Given the description of an element on the screen output the (x, y) to click on. 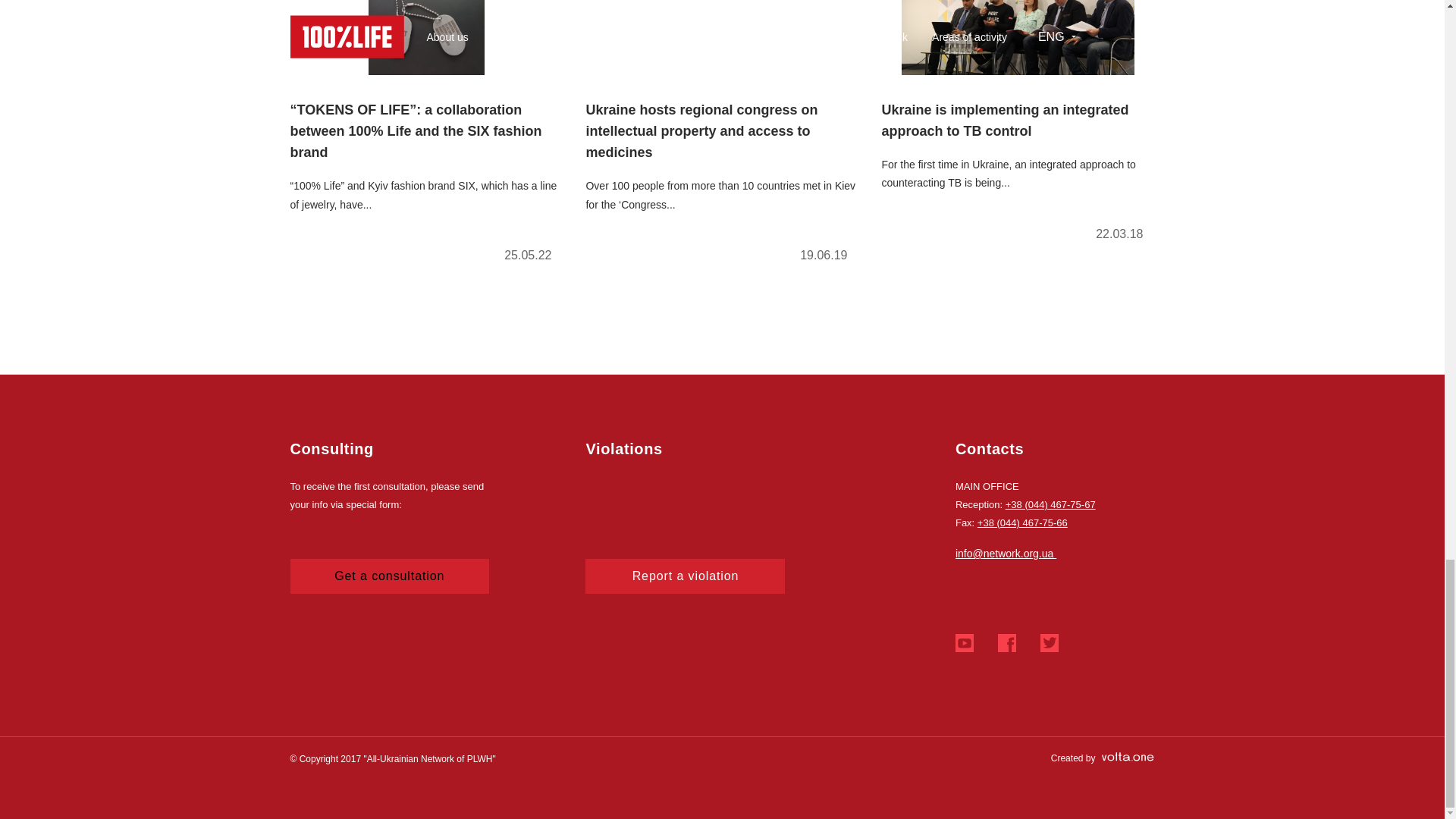
Report a violation (684, 575)
Get a consultation (389, 575)
Ukraine is implementing an integrated approach to TB control (1017, 127)
Report a violation (684, 575)
Get a consultation (389, 575)
